Given the description of an element on the screen output the (x, y) to click on. 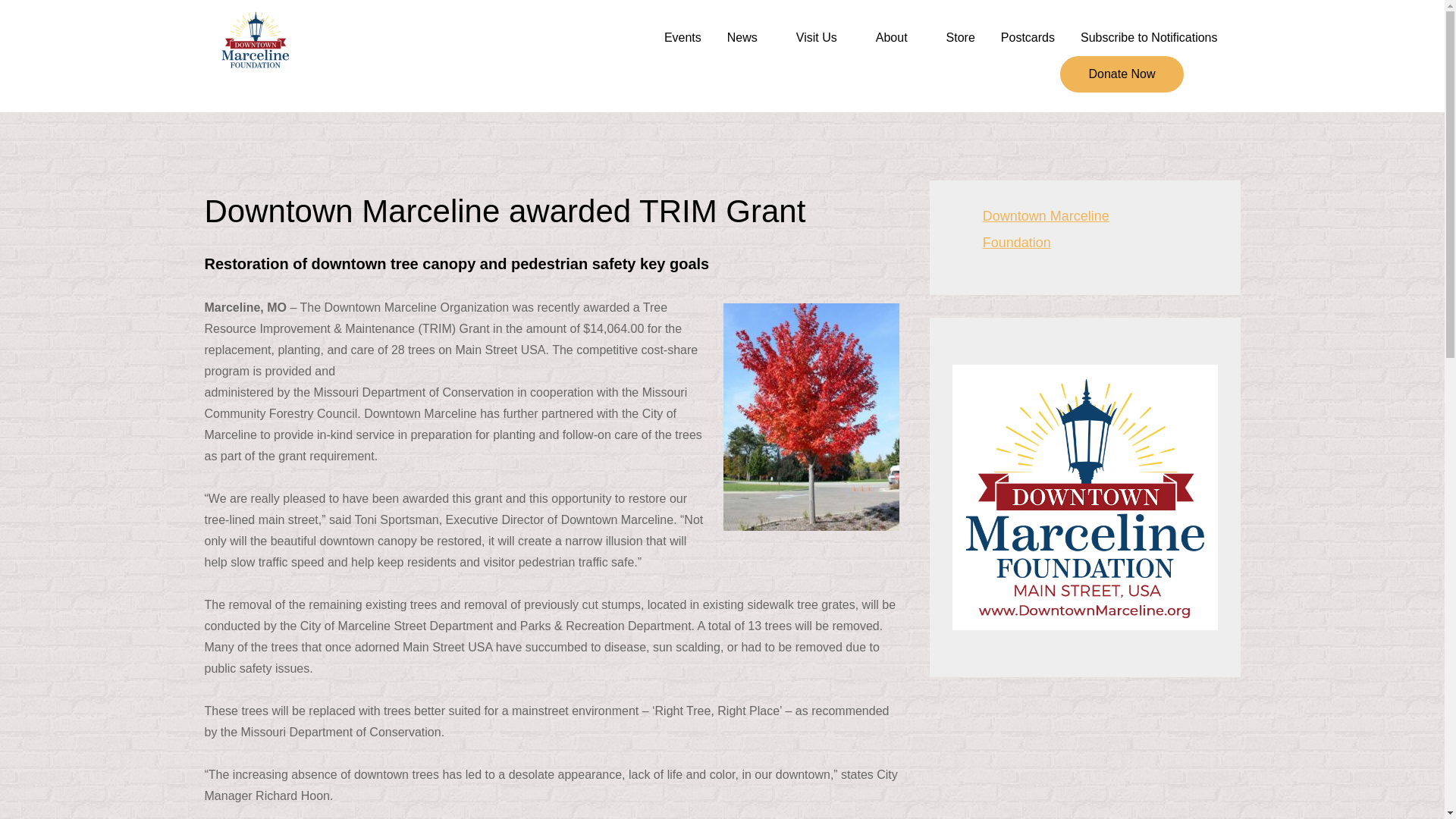
Visit Us (823, 37)
About (898, 37)
Downtown Marceline Foundation (498, 53)
News (748, 37)
Events (682, 37)
